Given the description of an element on the screen output the (x, y) to click on. 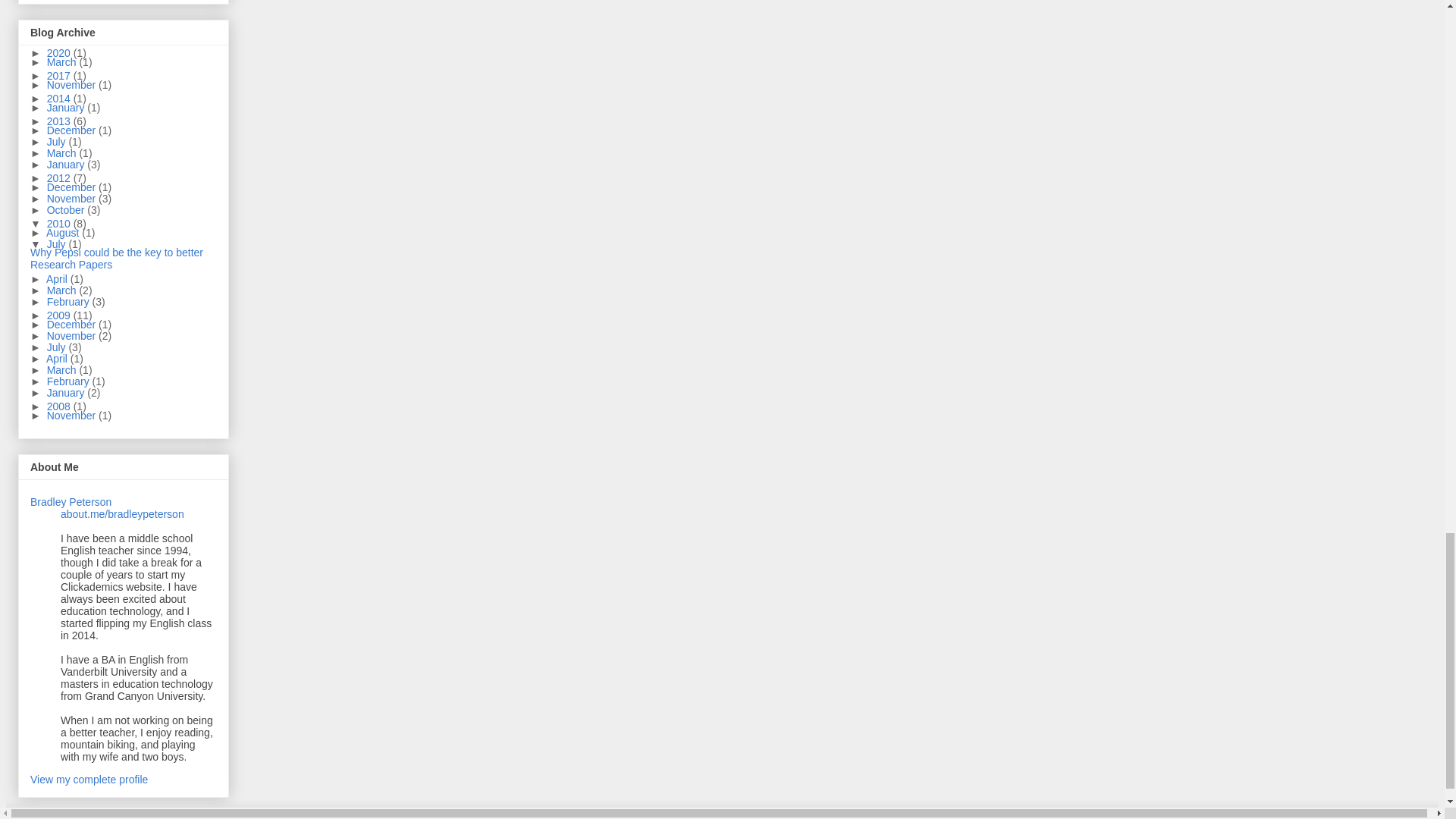
2017 (60, 75)
December (72, 130)
January (66, 164)
2020 (60, 52)
March (63, 152)
2014 (60, 98)
2013 (60, 121)
November (72, 84)
January (66, 107)
March (63, 61)
